Given the description of an element on the screen output the (x, y) to click on. 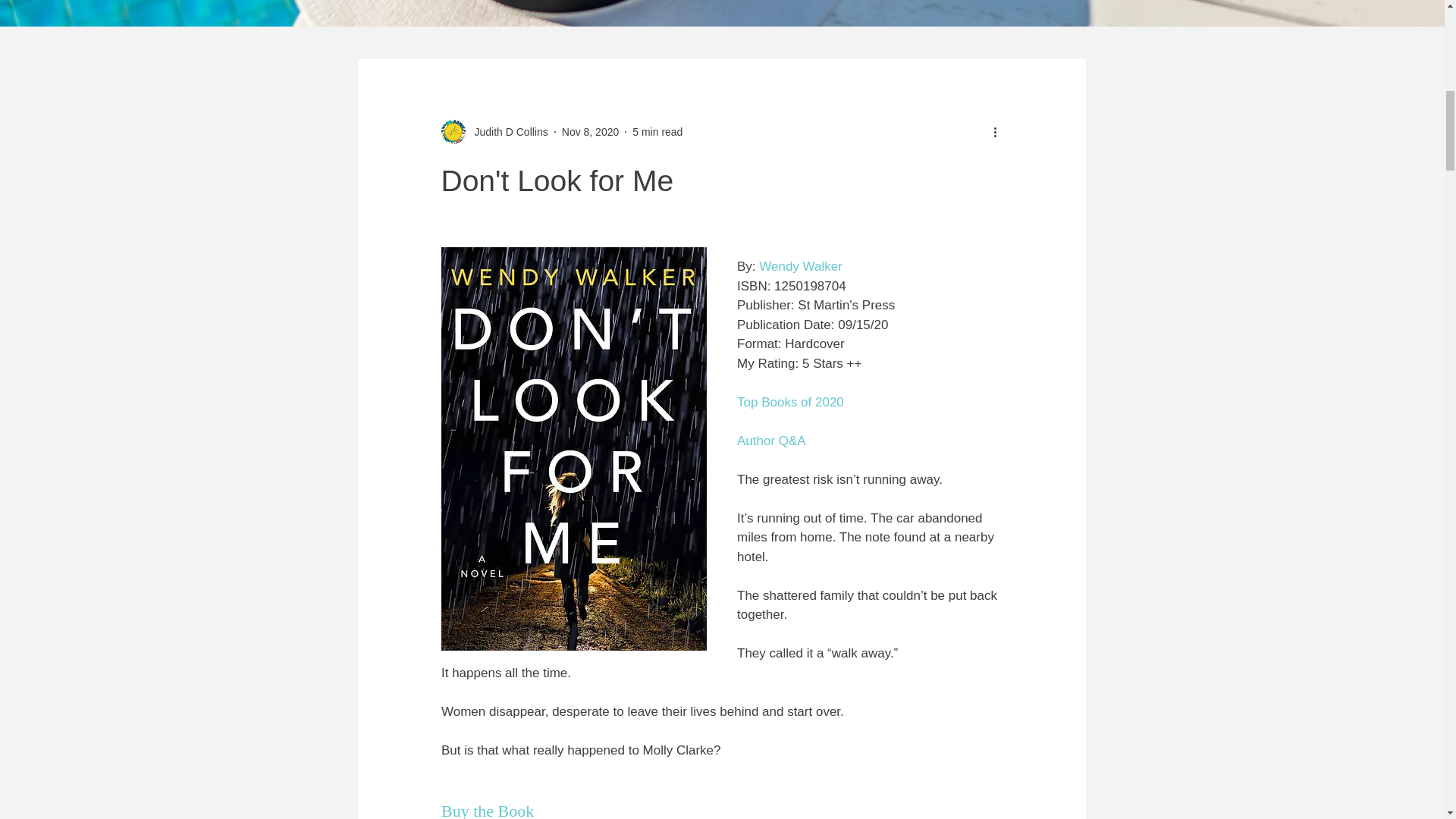
Nov 8, 2020 (591, 132)
Judith D Collins (506, 132)
5 min read (656, 132)
